Given the description of an element on the screen output the (x, y) to click on. 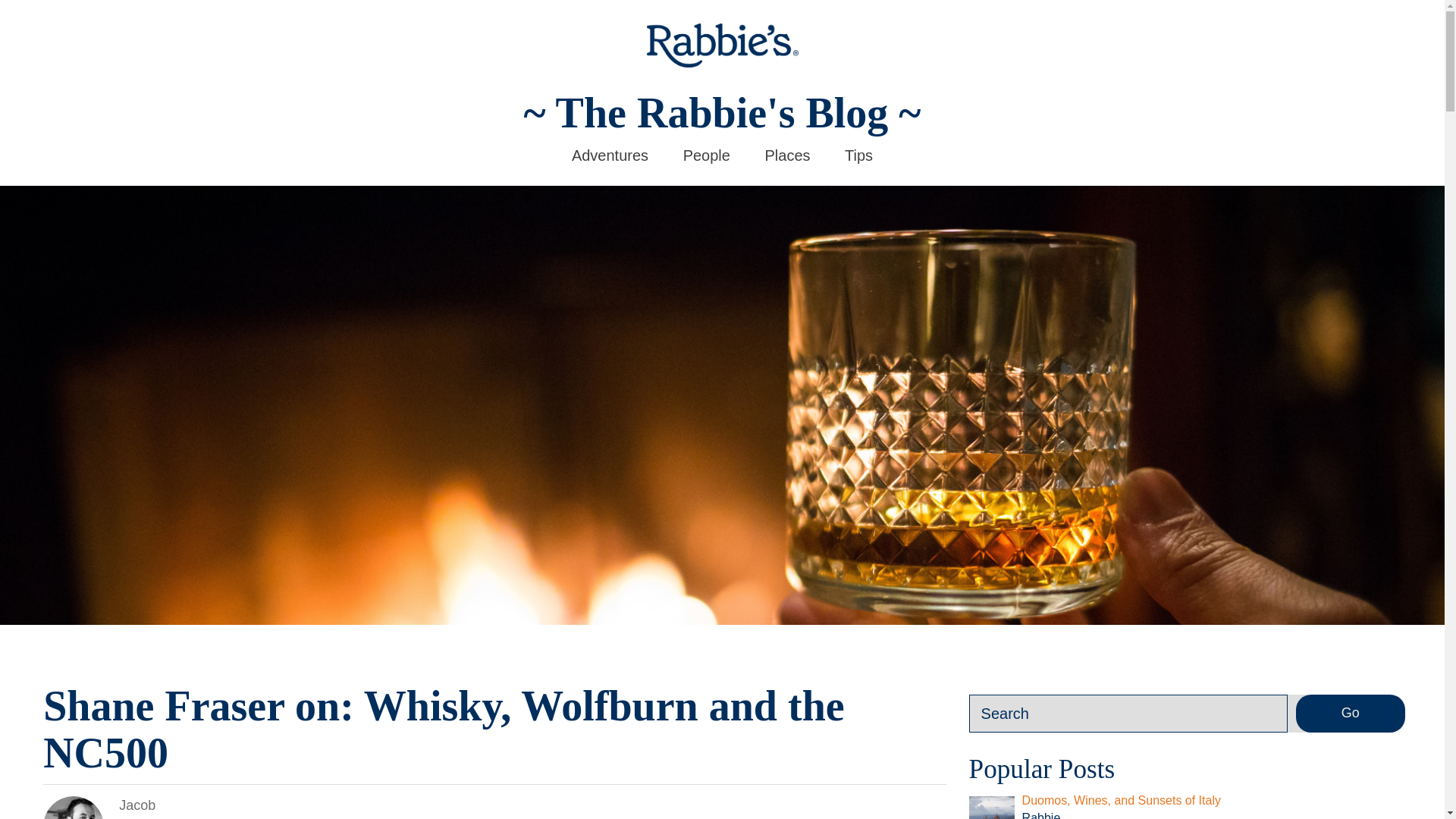
People (706, 155)
Adventures (609, 155)
Go (1350, 713)
Go (1350, 713)
Go (1350, 713)
Tips (858, 155)
Places (786, 155)
Duomos, Wines, and Sunsets of Italy (1121, 799)
